Given the description of an element on the screen output the (x, y) to click on. 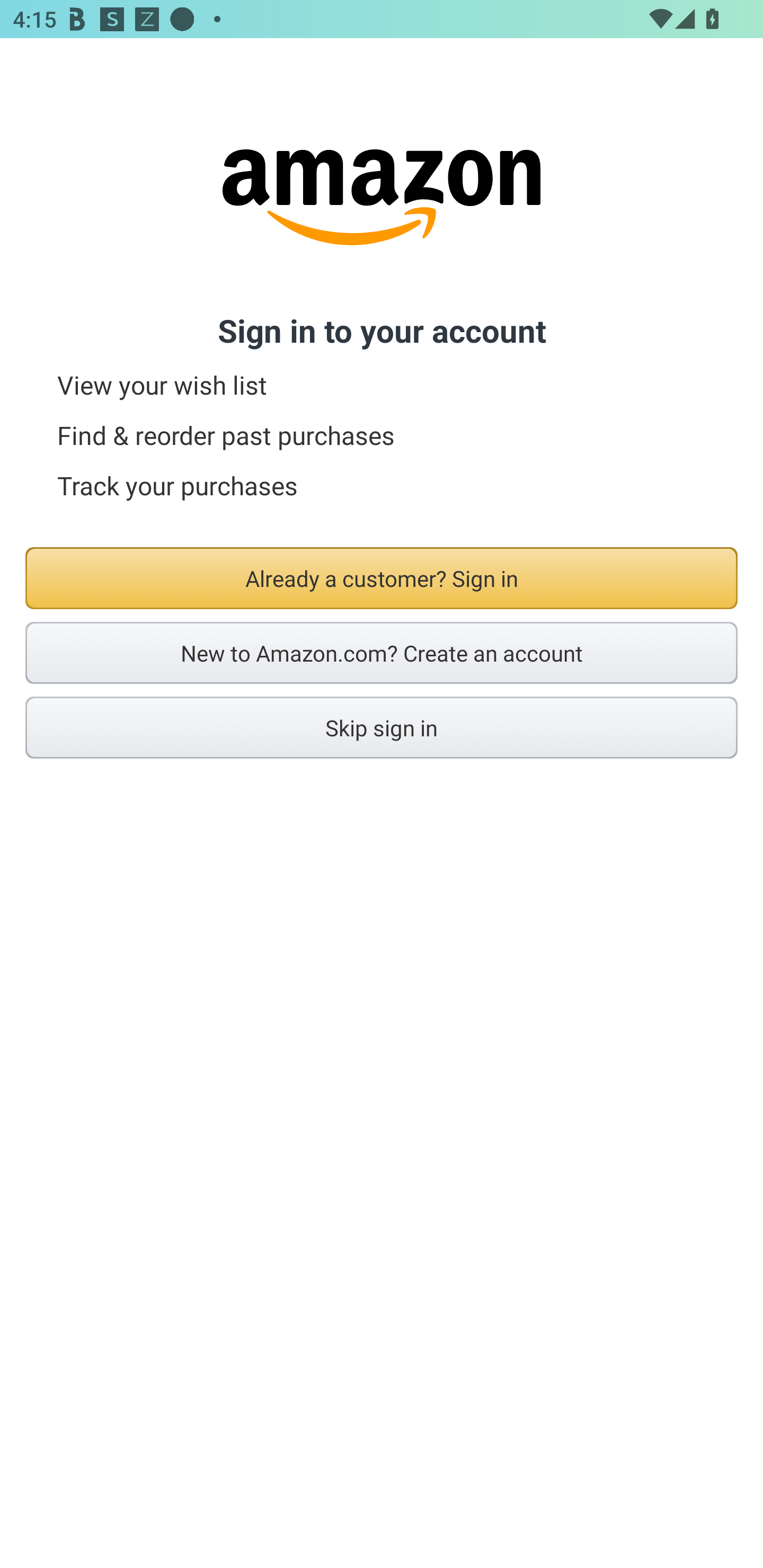
Already a customer? Sign in (381, 578)
New to Amazon.com? Create an account (381, 652)
Skip sign in (381, 727)
